Given the description of an element on the screen output the (x, y) to click on. 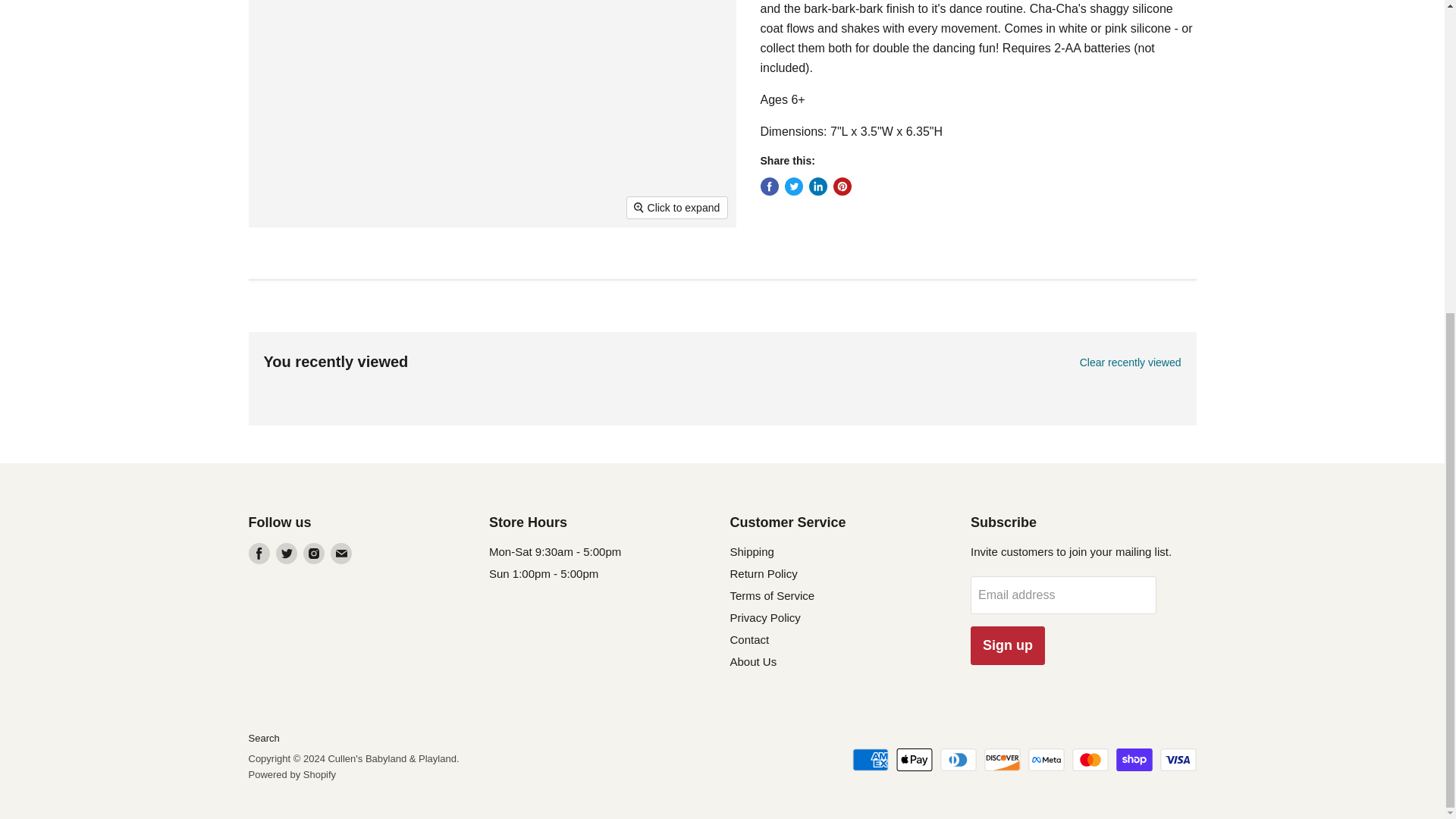
Instagram (313, 553)
Email (341, 553)
Facebook (258, 553)
Twitter (286, 553)
